Given the description of an element on the screen output the (x, y) to click on. 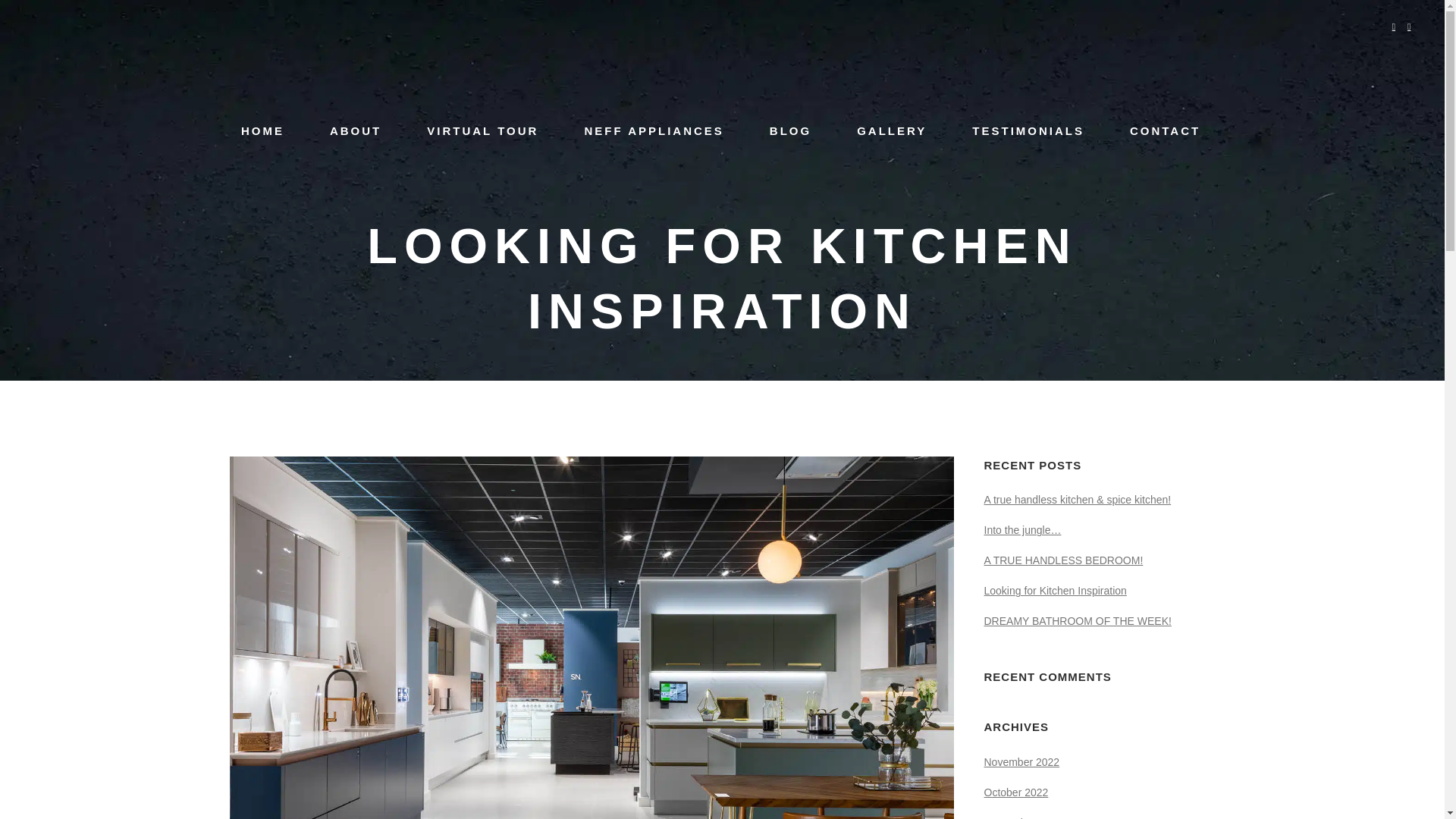
CONTACT (1164, 130)
BLOG (790, 130)
VIRTUAL TOUR (482, 130)
TESTIMONIALS (1027, 130)
HOME (262, 130)
NEFF APPLIANCES (652, 130)
GALLERY (891, 130)
ABOUT (355, 130)
